Given the description of an element on the screen output the (x, y) to click on. 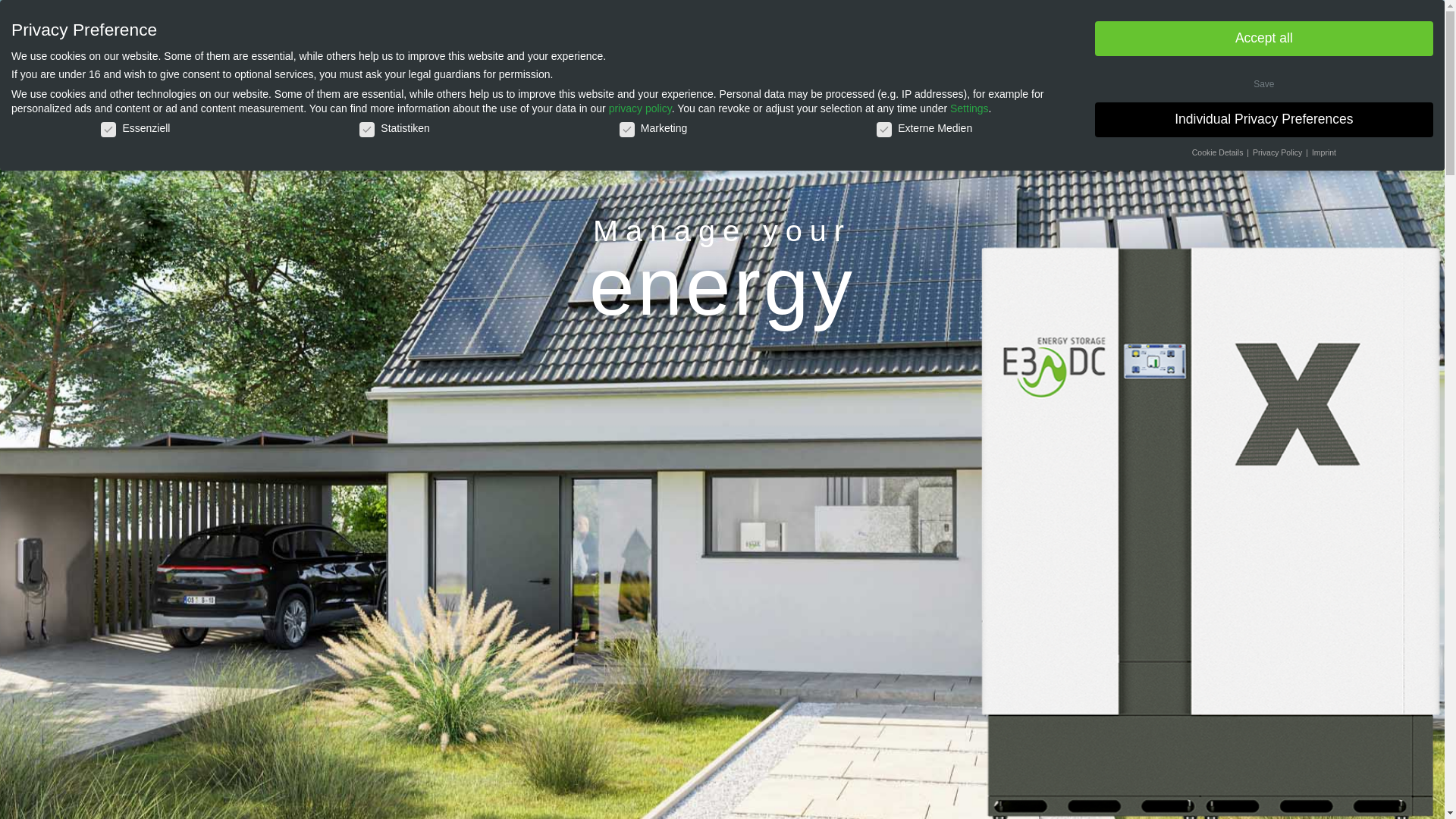
S10 E PRO (622, 41)
S10 X (548, 41)
WALLBOX (798, 41)
OLD PORTAL (1336, 41)
S10 SE (488, 41)
NEW PORTAL (1215, 41)
S20 X PRO (711, 41)
